Given the description of an element on the screen output the (x, y) to click on. 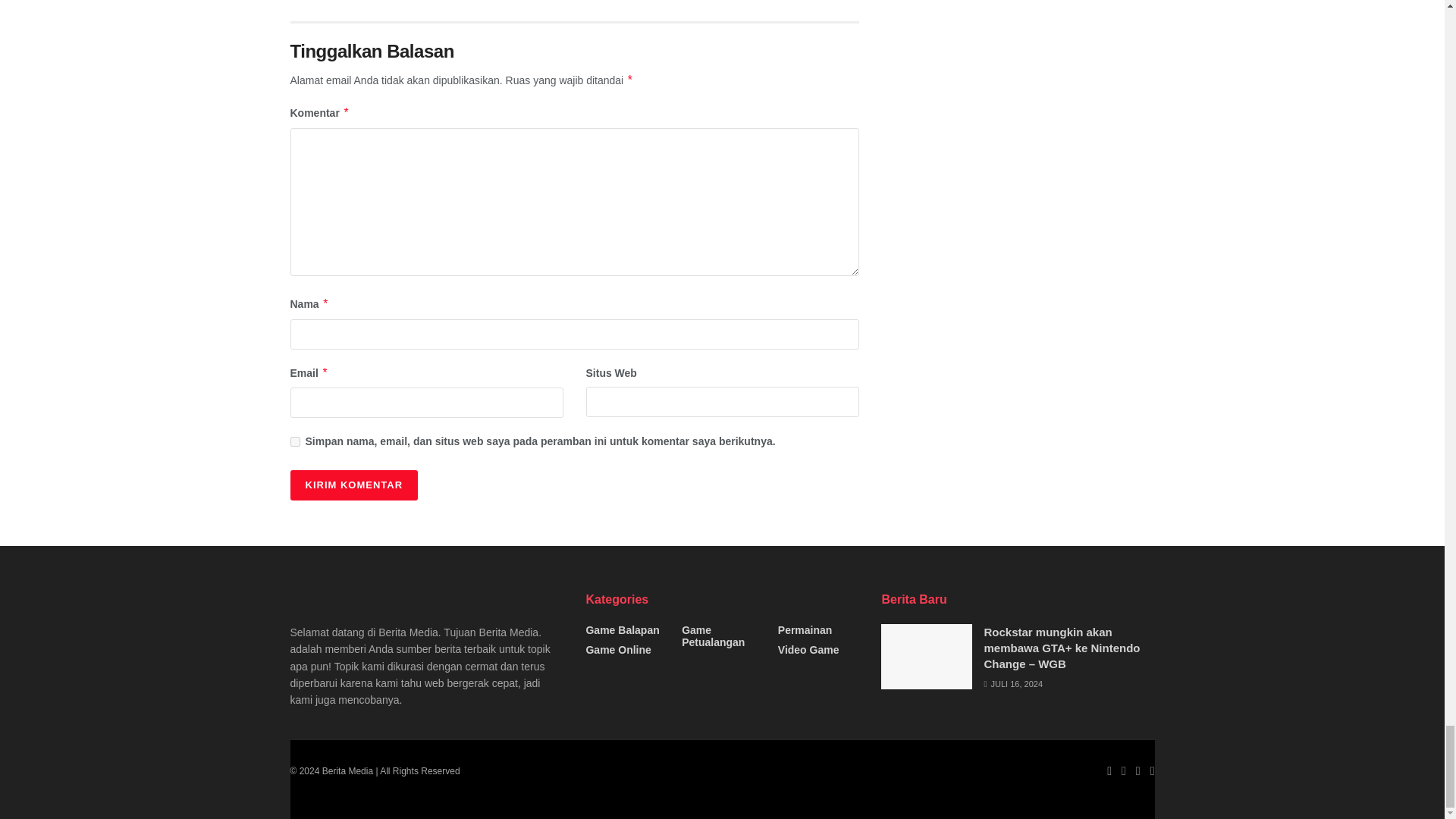
Kirim Komentar (353, 485)
yes (294, 441)
